Given the description of an element on the screen output the (x, y) to click on. 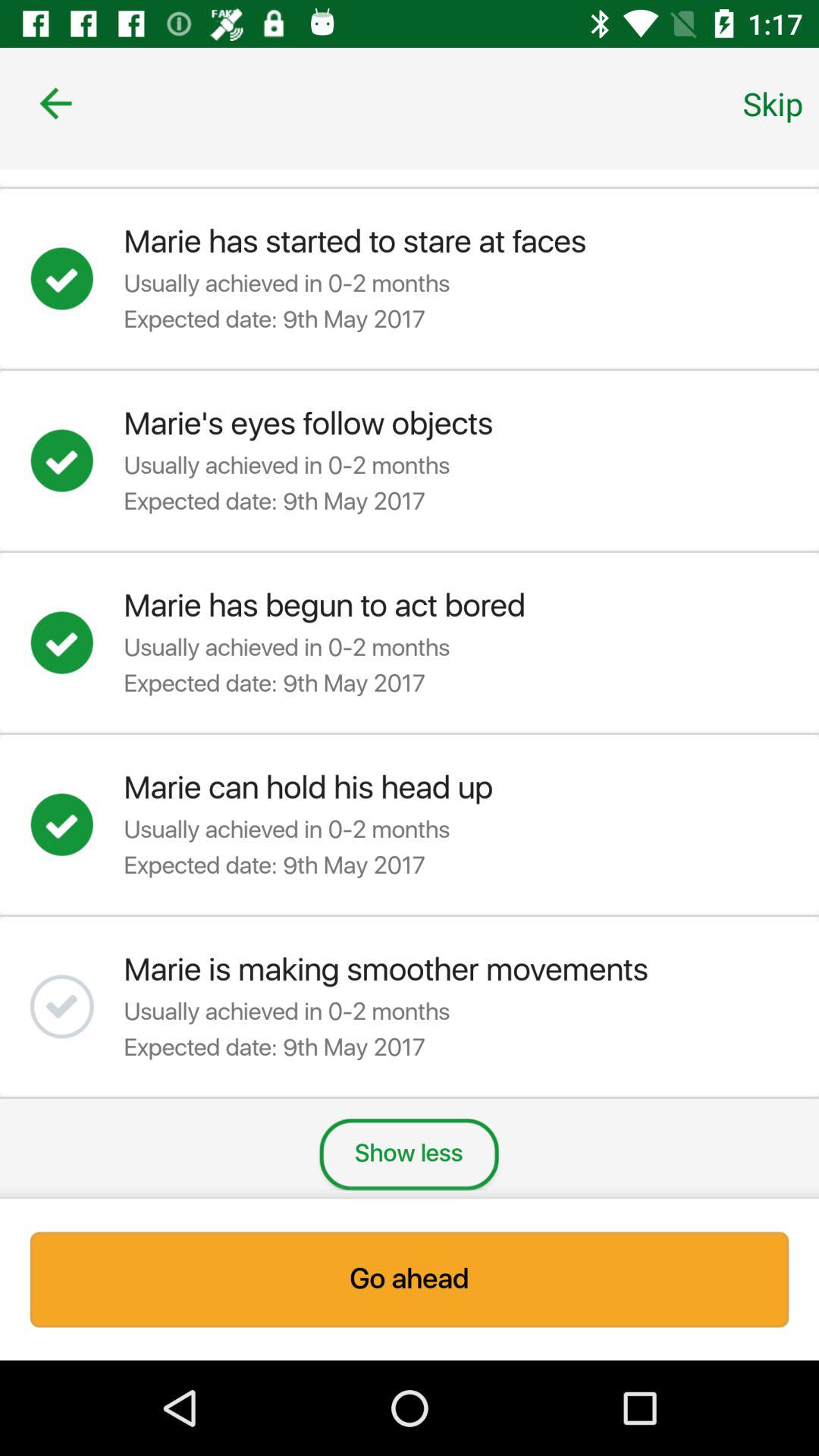
check movement option (76, 1006)
